Given the description of an element on the screen output the (x, y) to click on. 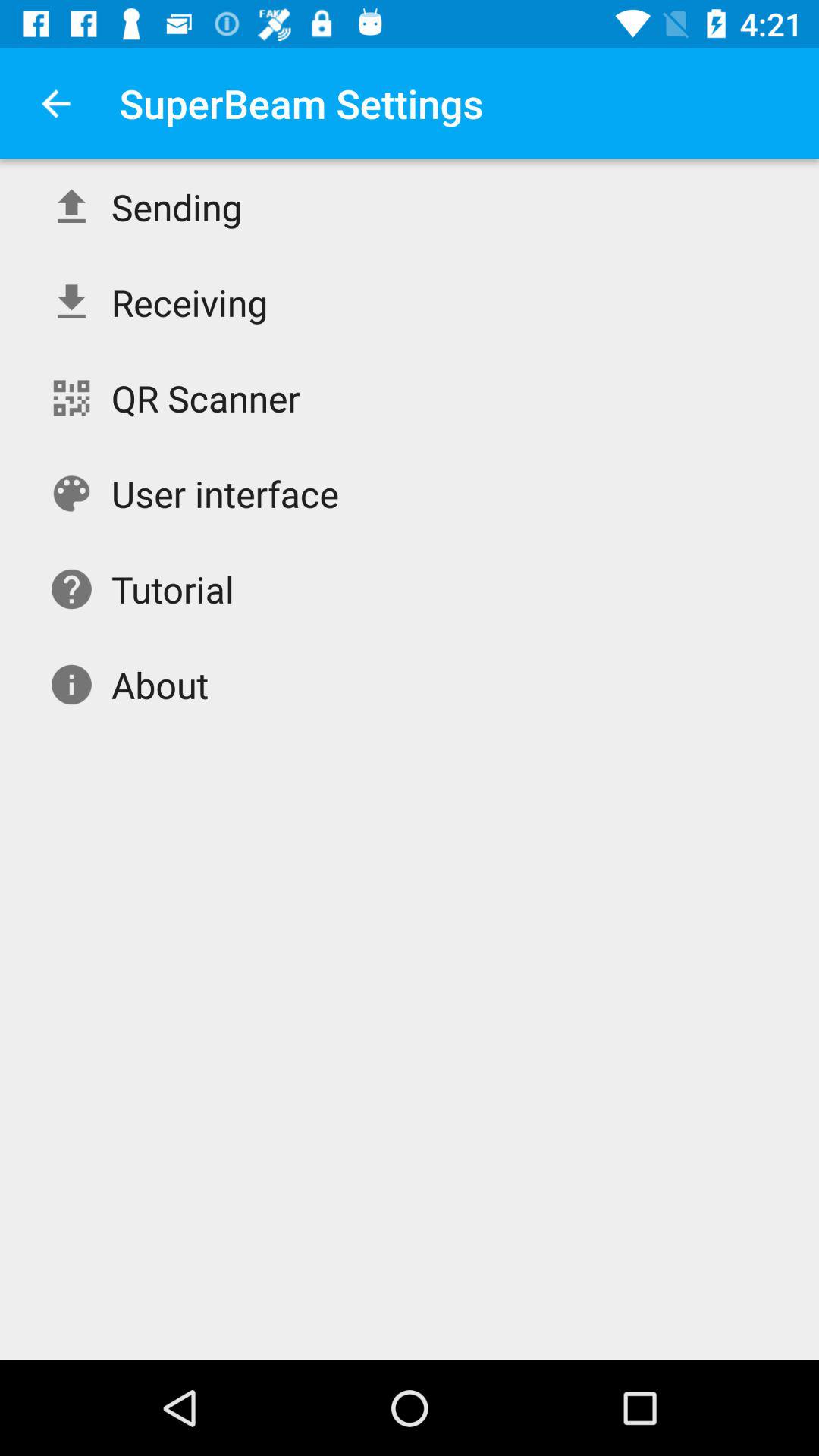
turn on item below user interface icon (172, 588)
